Given the description of an element on the screen output the (x, y) to click on. 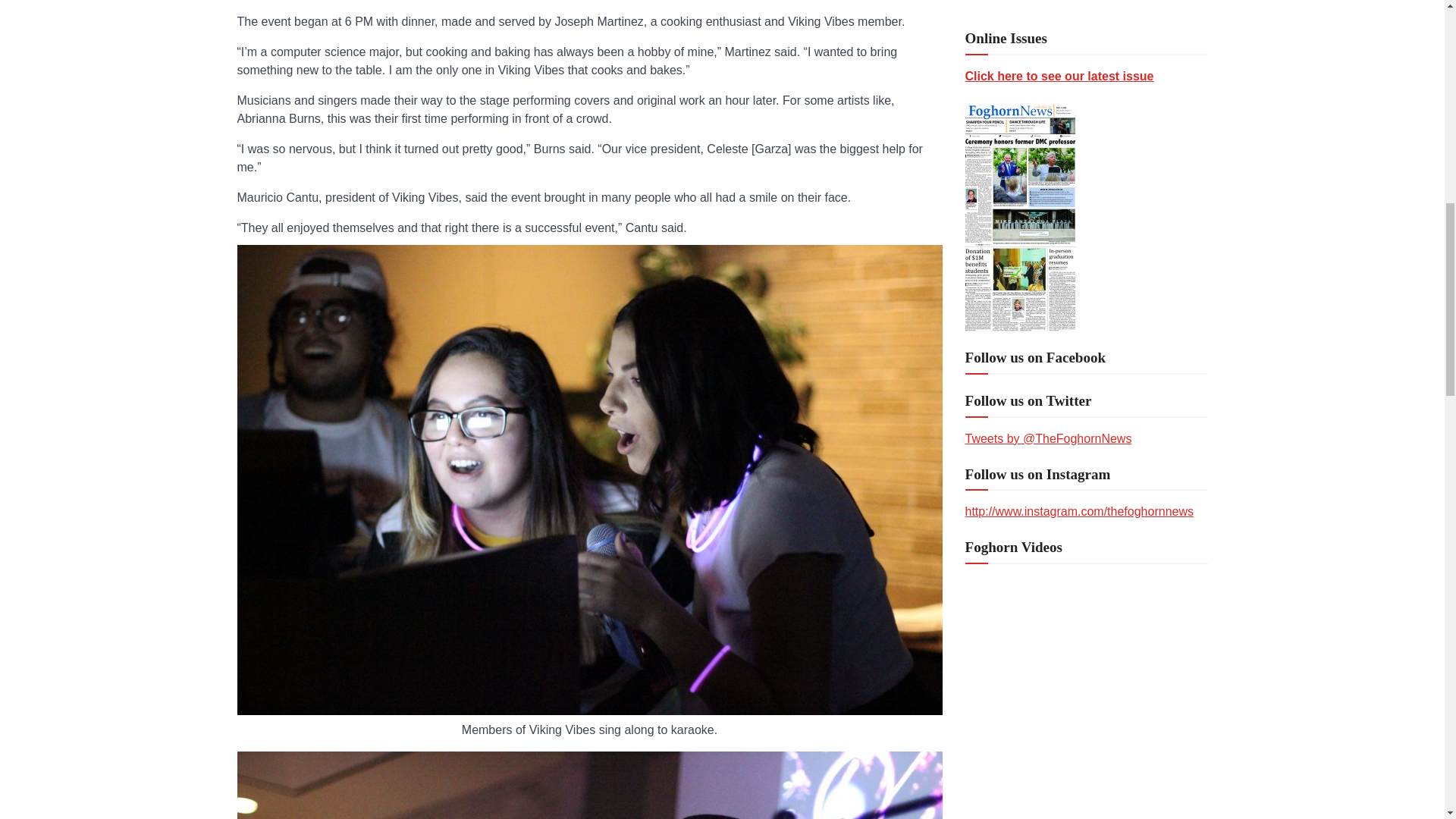
Send (988, 760)
Send (988, 760)
